Given the description of an element on the screen output the (x, y) to click on. 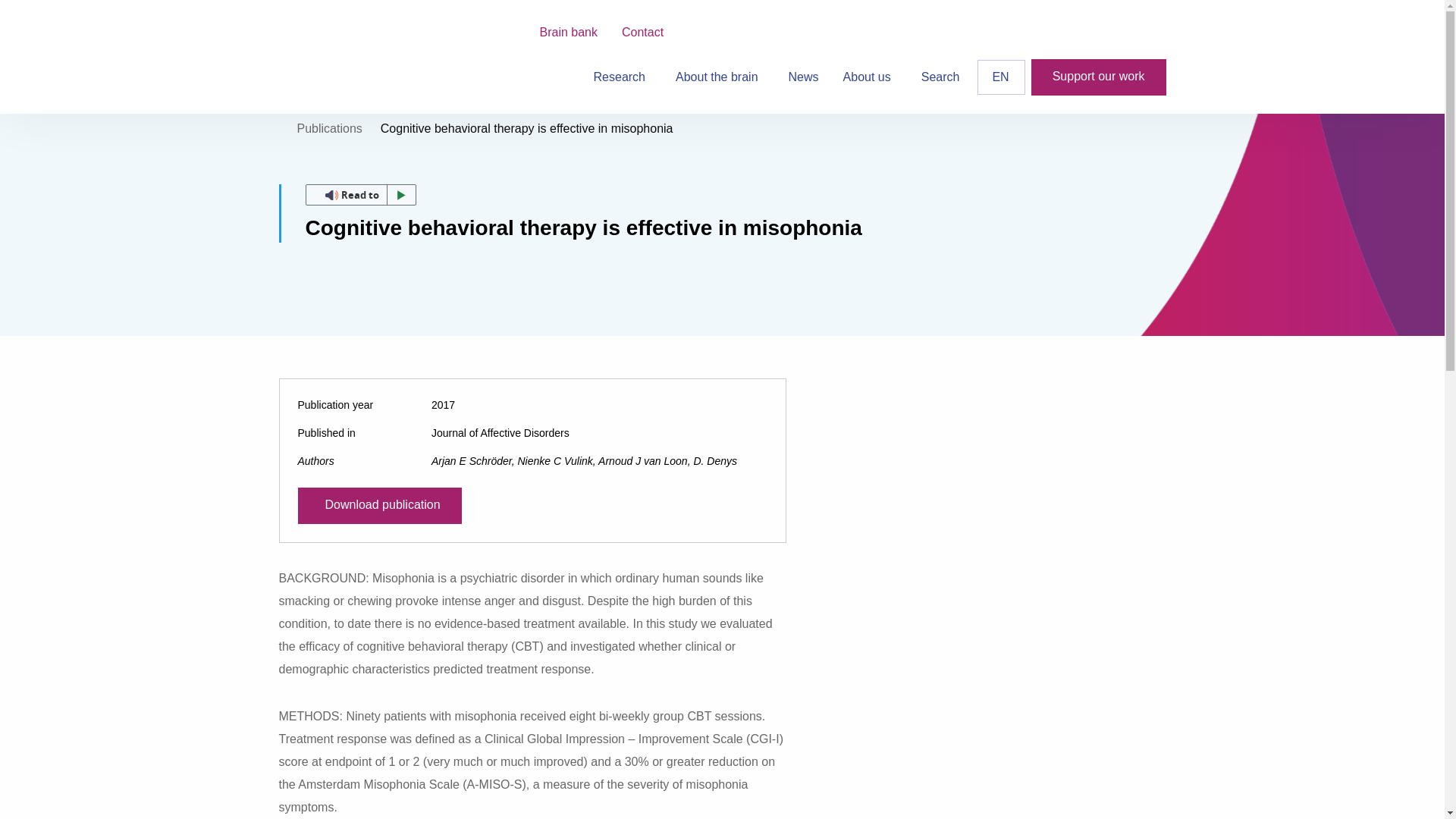
Brain bank (568, 32)
Contact (642, 32)
Research (621, 76)
Go to Publications. (329, 128)
EN (1000, 77)
Laat de tekst voorlezen met ReadSpeaker webReader (359, 194)
About us (869, 76)
Search (940, 76)
Support our work (1098, 76)
News (803, 76)
Publications (329, 128)
About the brain (719, 76)
